Given the description of an element on the screen output the (x, y) to click on. 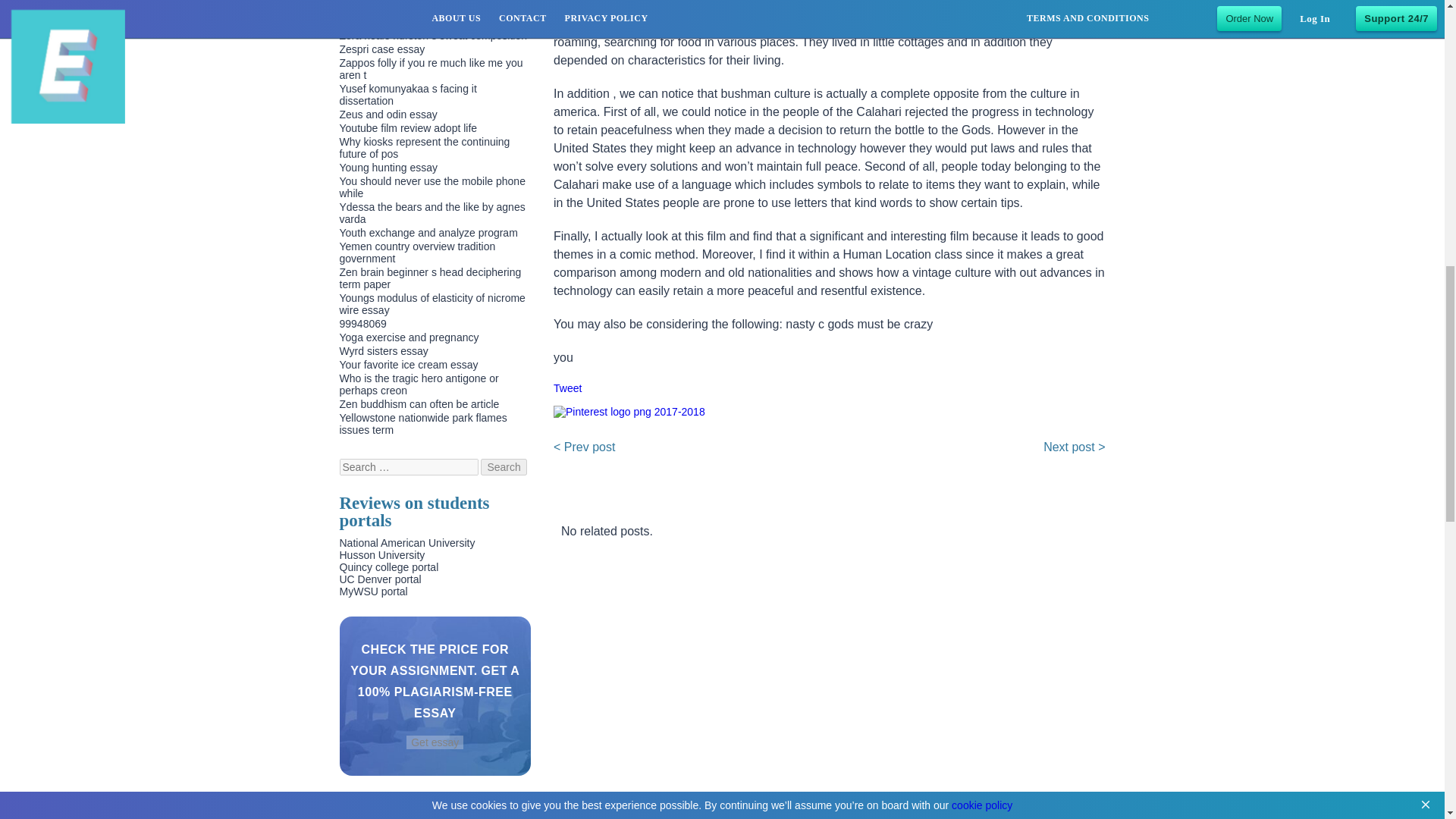
Search (502, 466)
Search (502, 466)
